Given the description of an element on the screen output the (x, y) to click on. 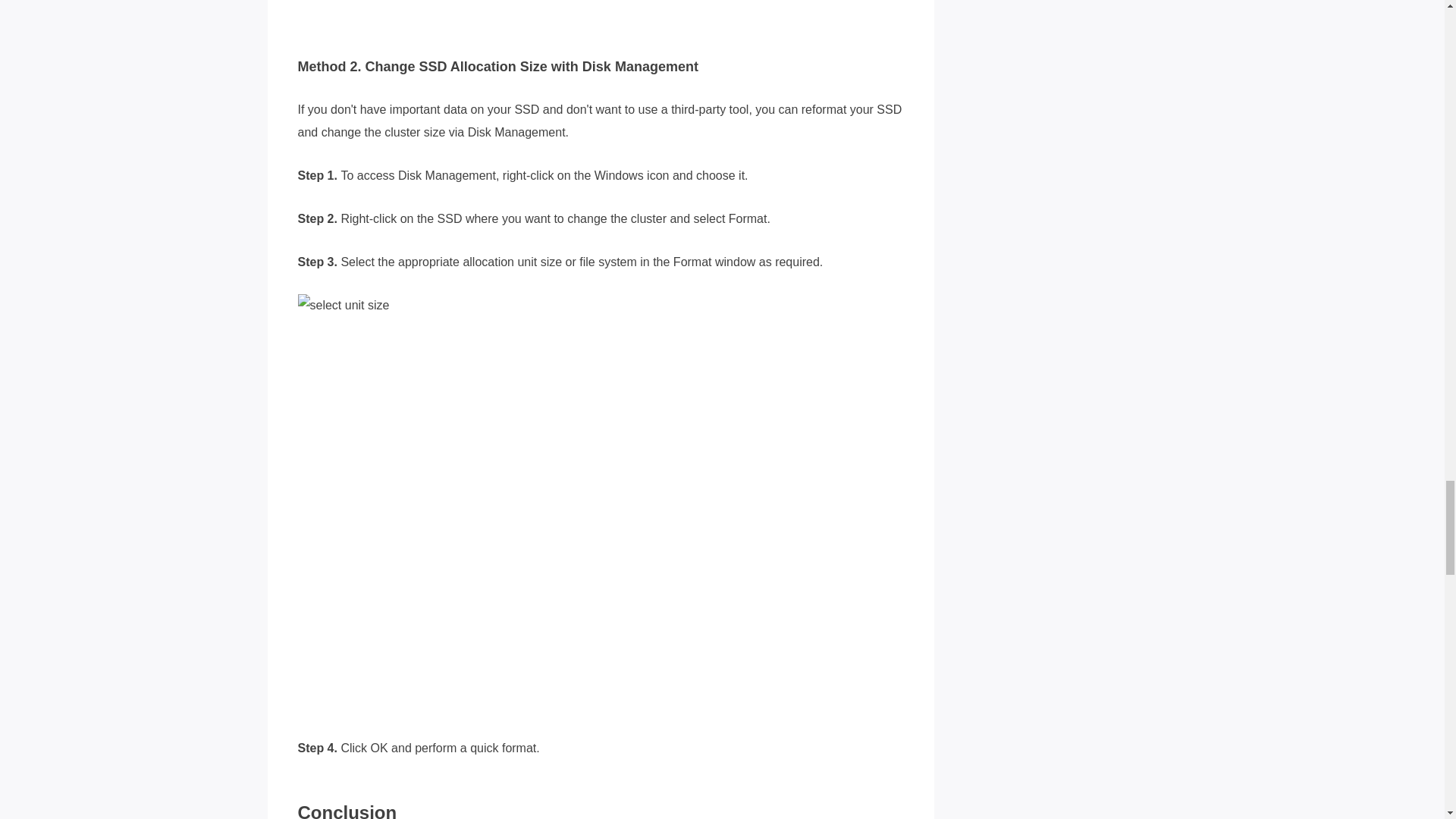
YouTube video player (562, 13)
